Given the description of an element on the screen output the (x, y) to click on. 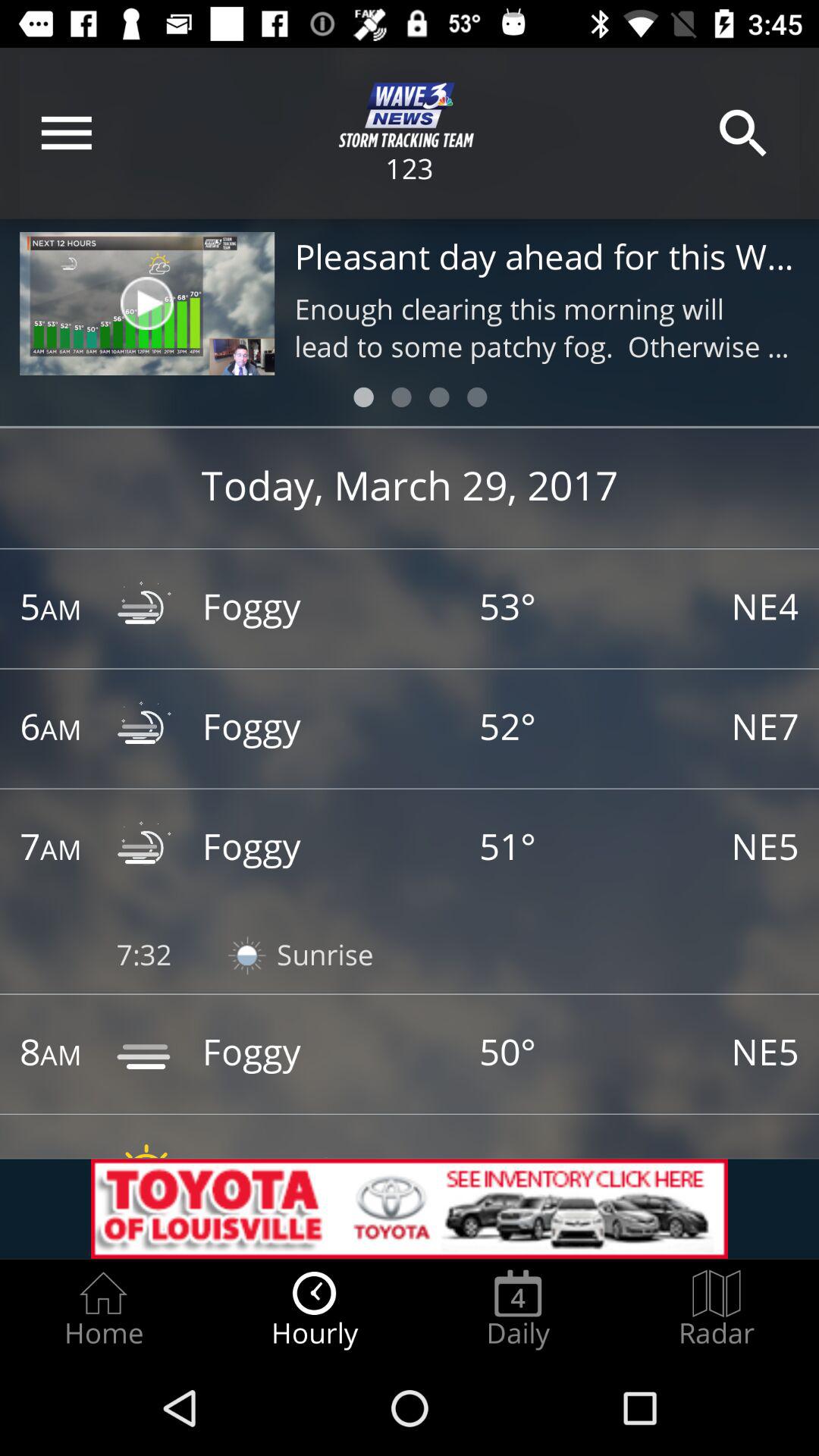
launch icon to the left of radar (518, 1309)
